Given the description of an element on the screen output the (x, y) to click on. 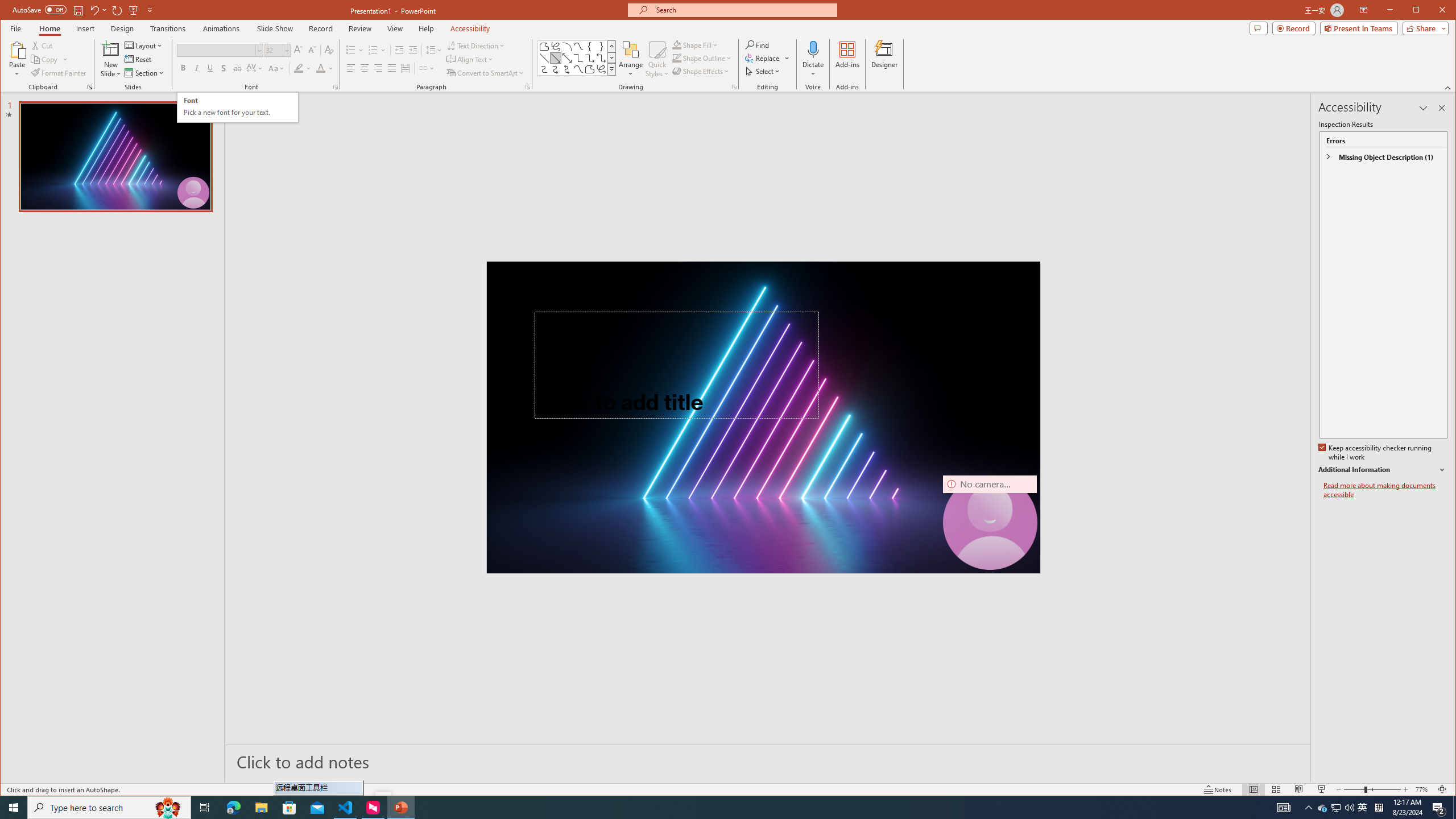
Connector: Curved Double-Arrow (567, 69)
